Given the description of an element on the screen output the (x, y) to click on. 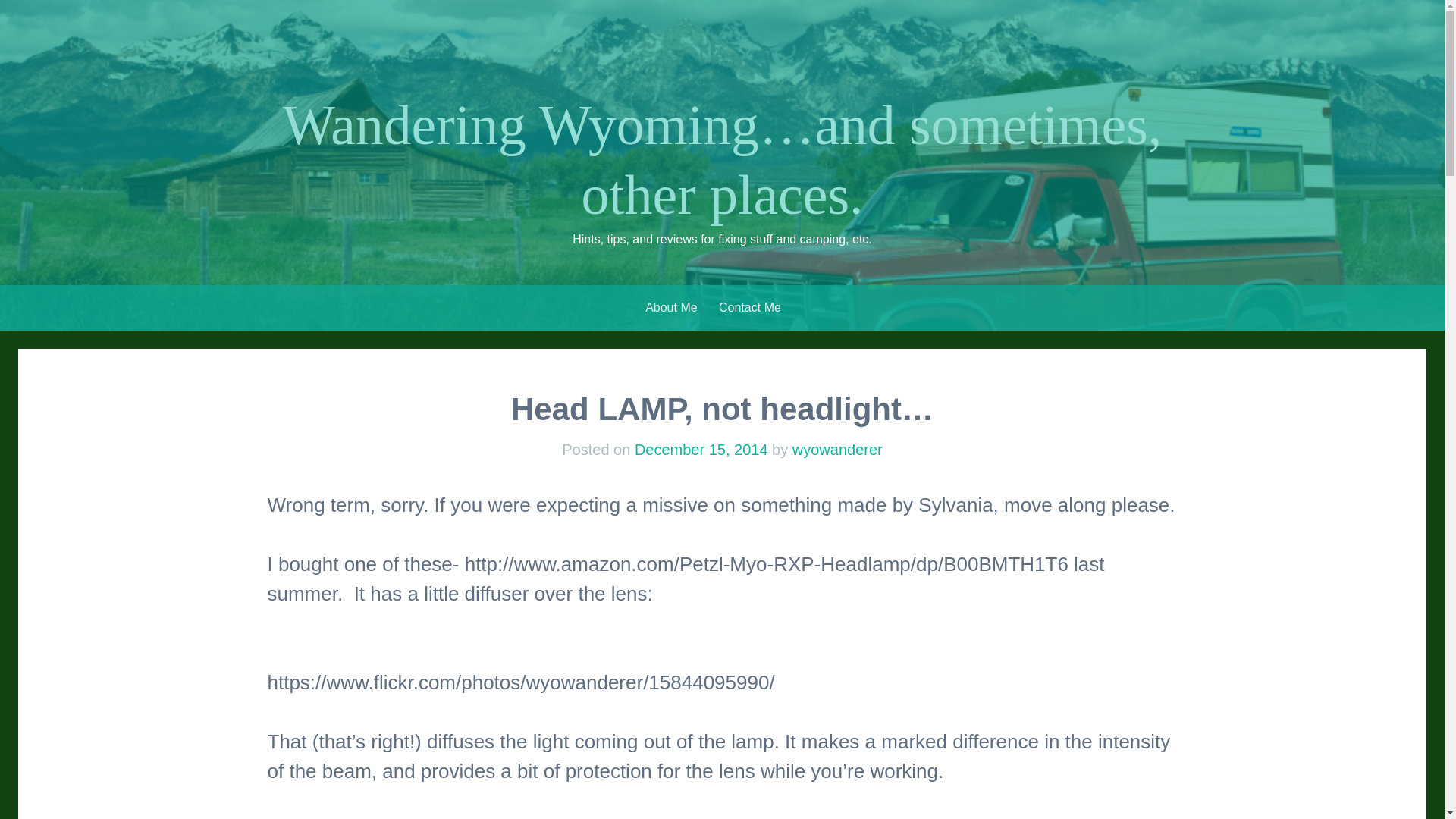
Contact Me (749, 307)
Search (24, 13)
About Me (671, 307)
December 15, 2014 (701, 449)
wyowanderer (837, 449)
